Given the description of an element on the screen output the (x, y) to click on. 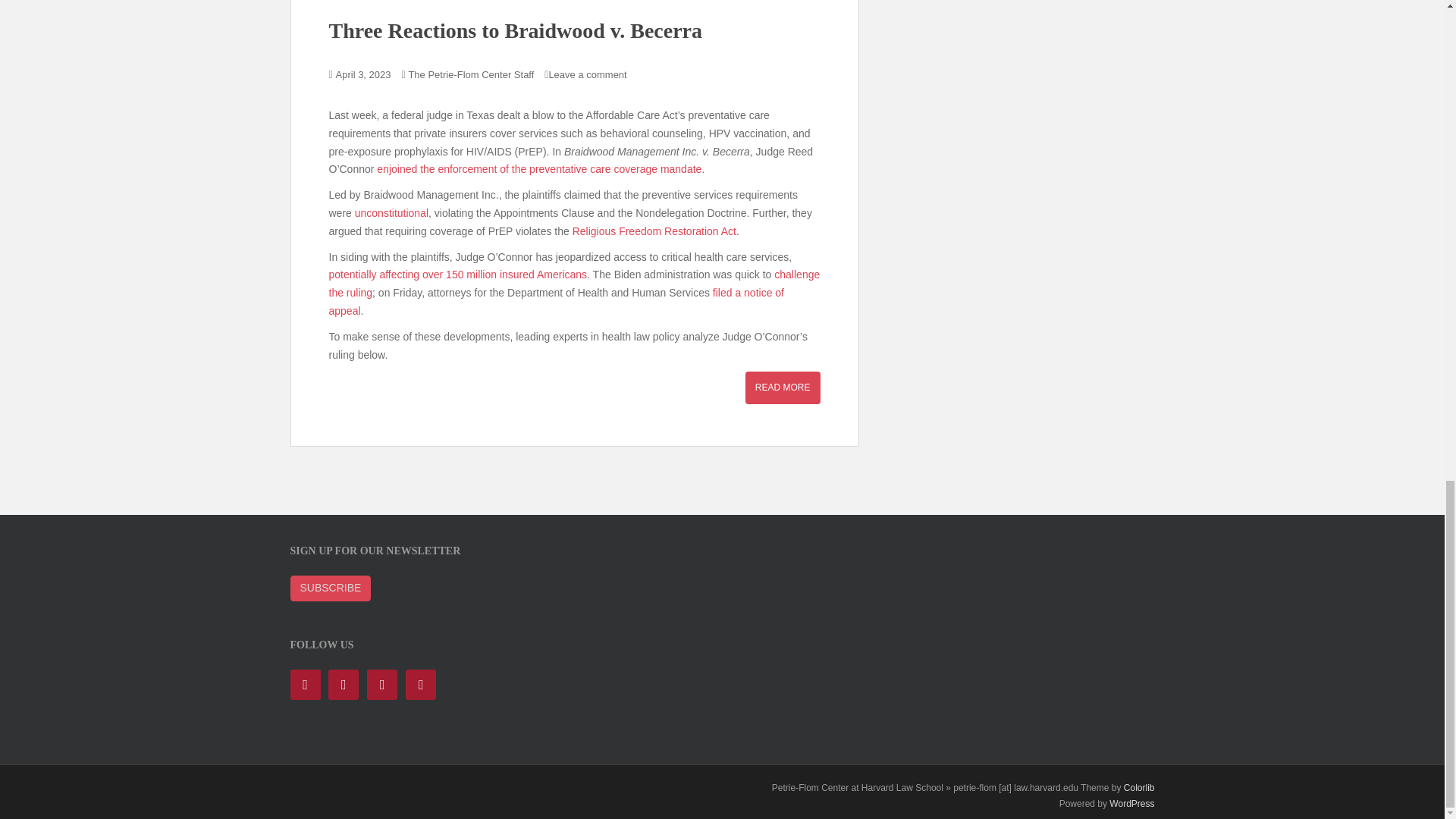
challenge the ruling (575, 283)
The Petrie-Flom Center Staff (470, 74)
unconstitutional (391, 213)
Religious Freedom Restoration Act (654, 231)
Three Reactions to Braidwood v. Becerra (516, 30)
potentially affecting over 150 million insured Americans (458, 274)
April 3, 2023 (363, 74)
Leave a comment (587, 74)
READ MORE (783, 387)
filed a notice of appeal (556, 301)
